Given the description of an element on the screen output the (x, y) to click on. 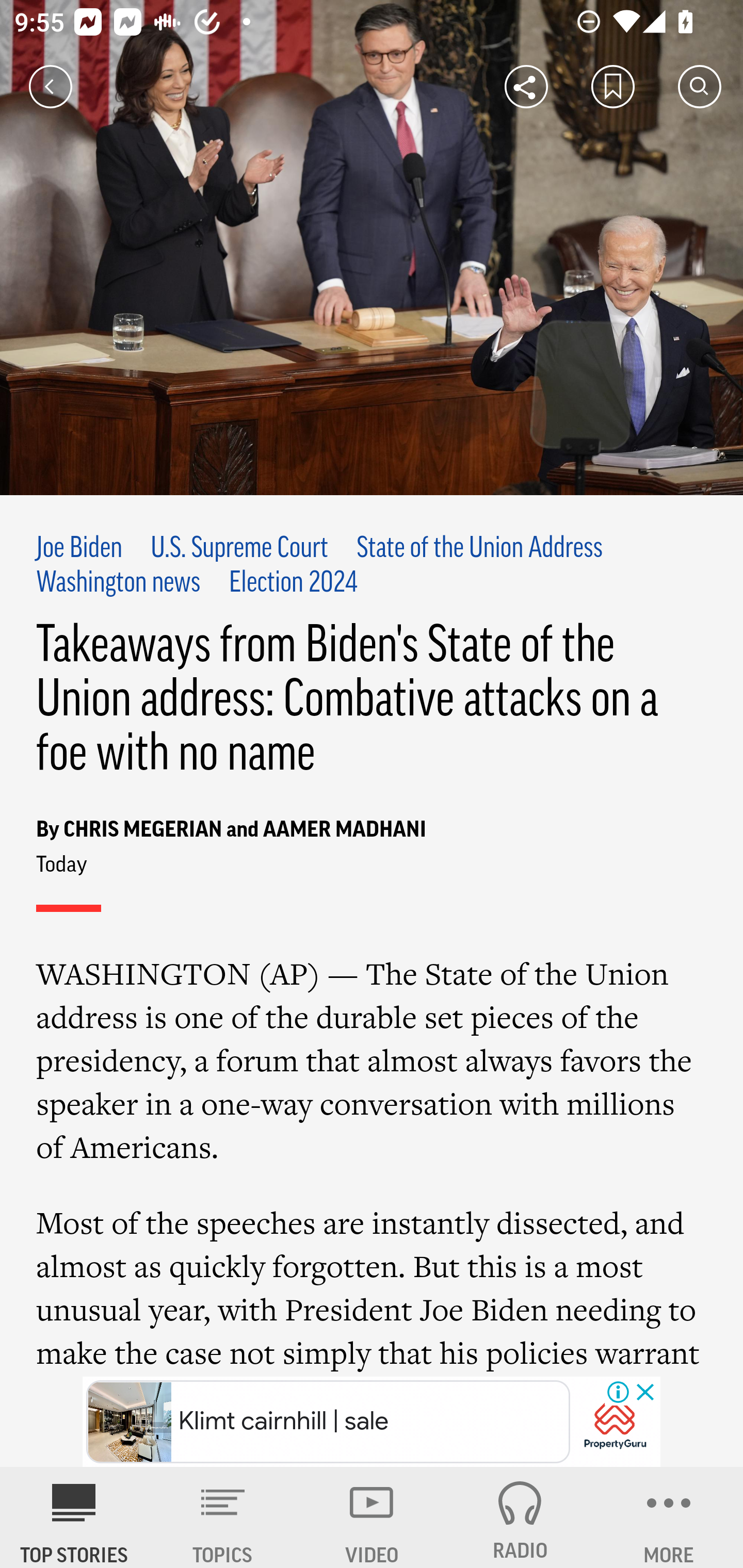
Joe Biden (79, 549)
U.S. Supreme Court (239, 549)
State of the Union Address (479, 549)
Washington news (119, 584)
Election 2024 (292, 584)
Klimt cairnhill | sale (327, 1421)
for-sale-klimt-cairnhill (615, 1422)
AP News TOP STORIES (74, 1517)
TOPICS (222, 1517)
VIDEO (371, 1517)
RADIO (519, 1517)
MORE (668, 1517)
